Given the description of an element on the screen output the (x, y) to click on. 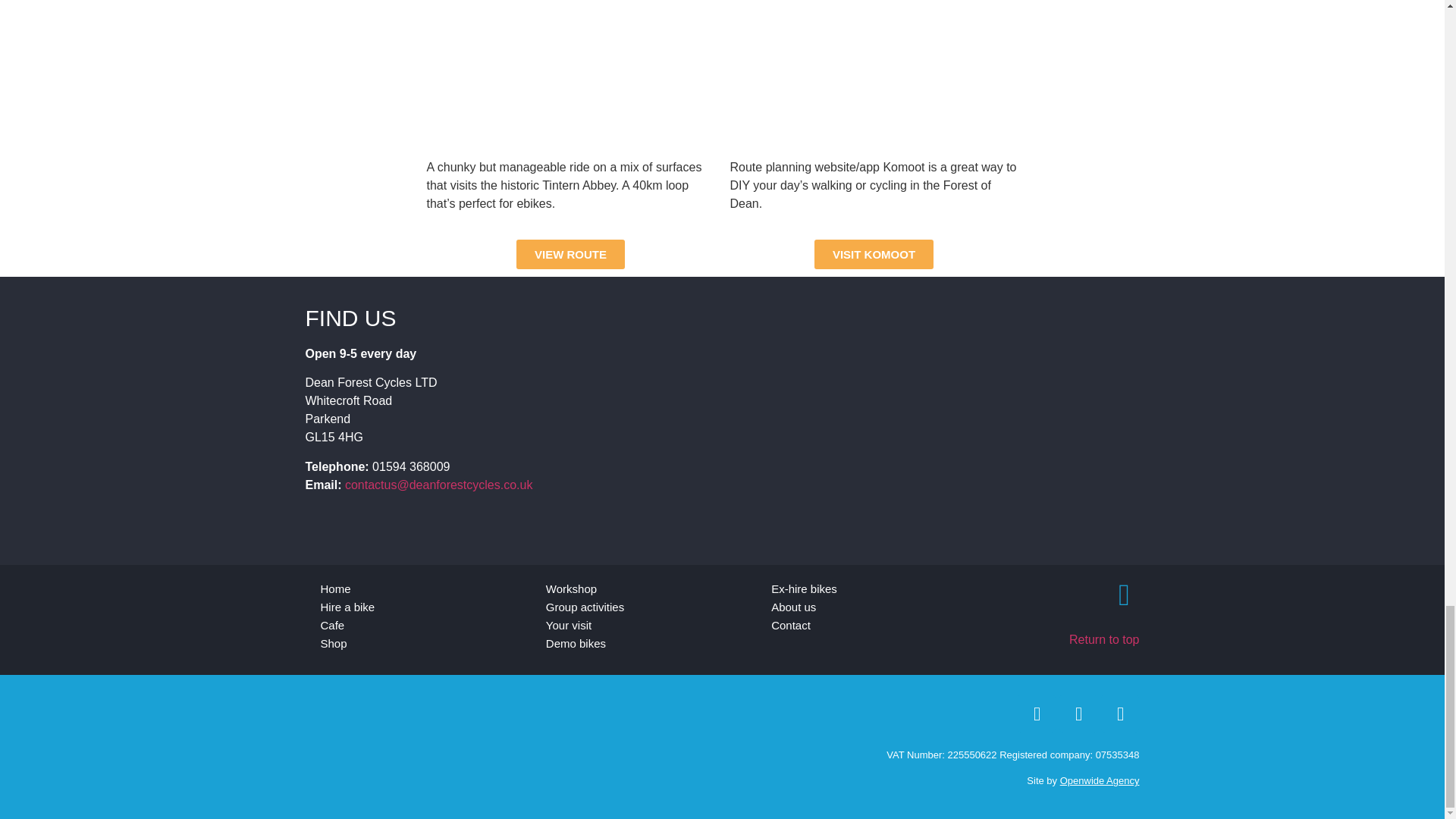
dean-forest-cycles-logo (361, 746)
Dean forest cycles (864, 420)
